Given the description of an element on the screen output the (x, y) to click on. 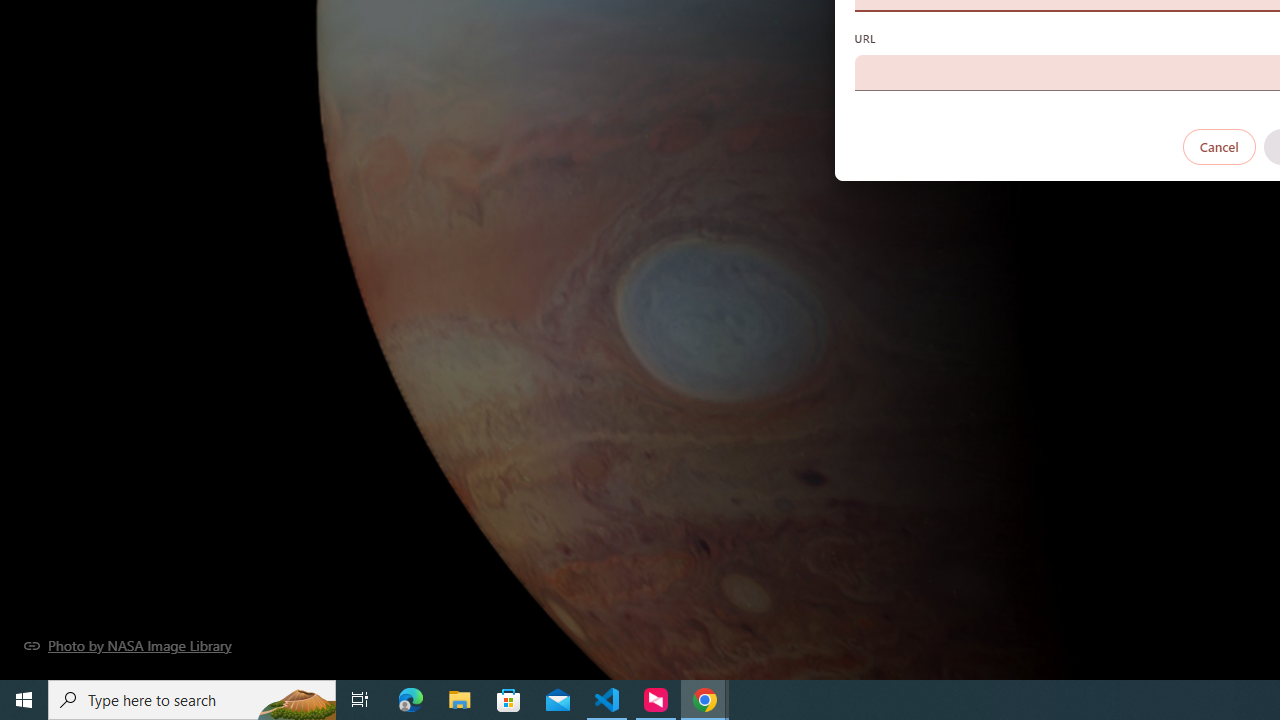
Cancel (1218, 146)
